Given the description of an element on the screen output the (x, y) to click on. 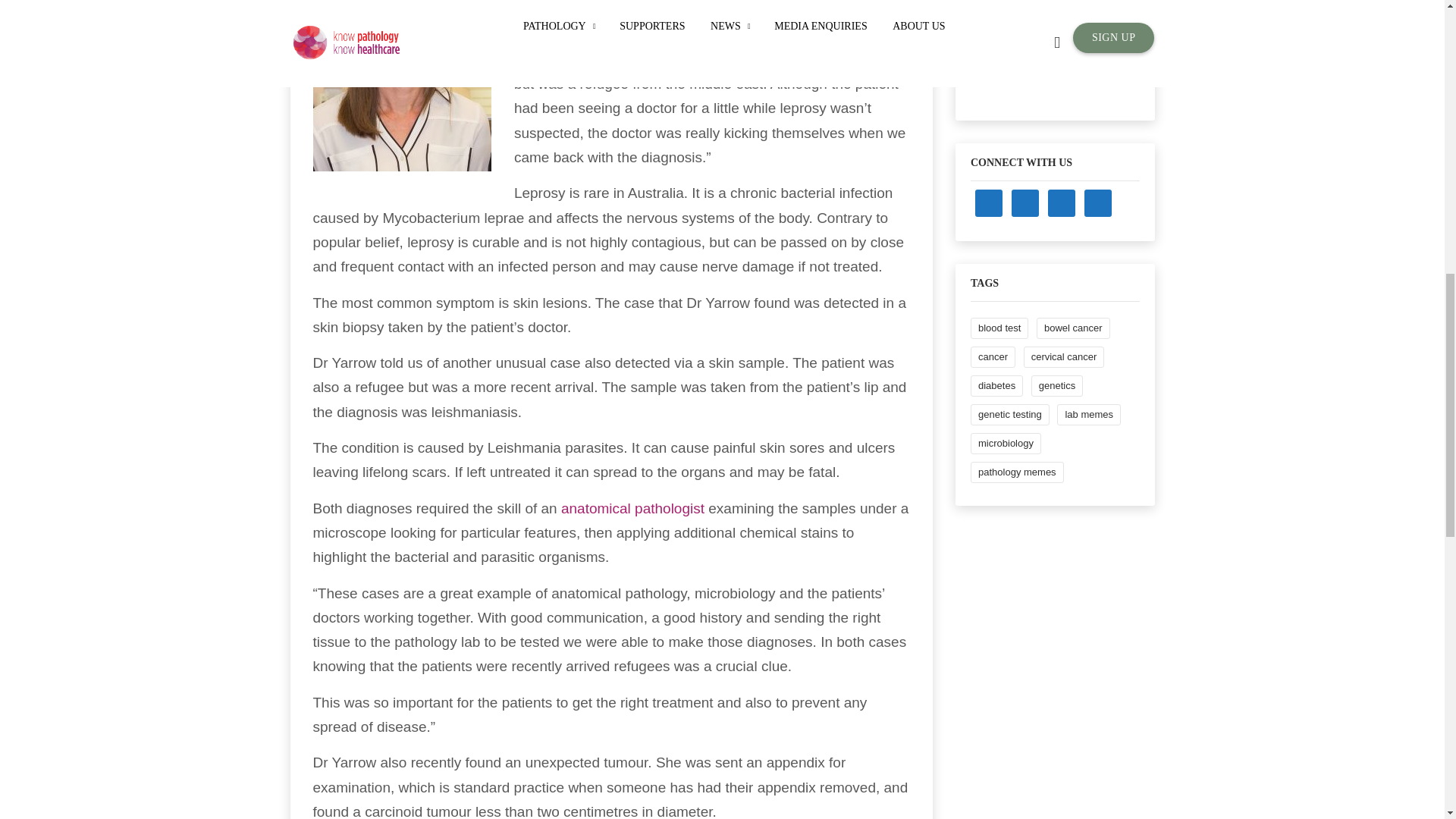
anatomical pathologist (633, 508)
